Given the description of an element on the screen output the (x, y) to click on. 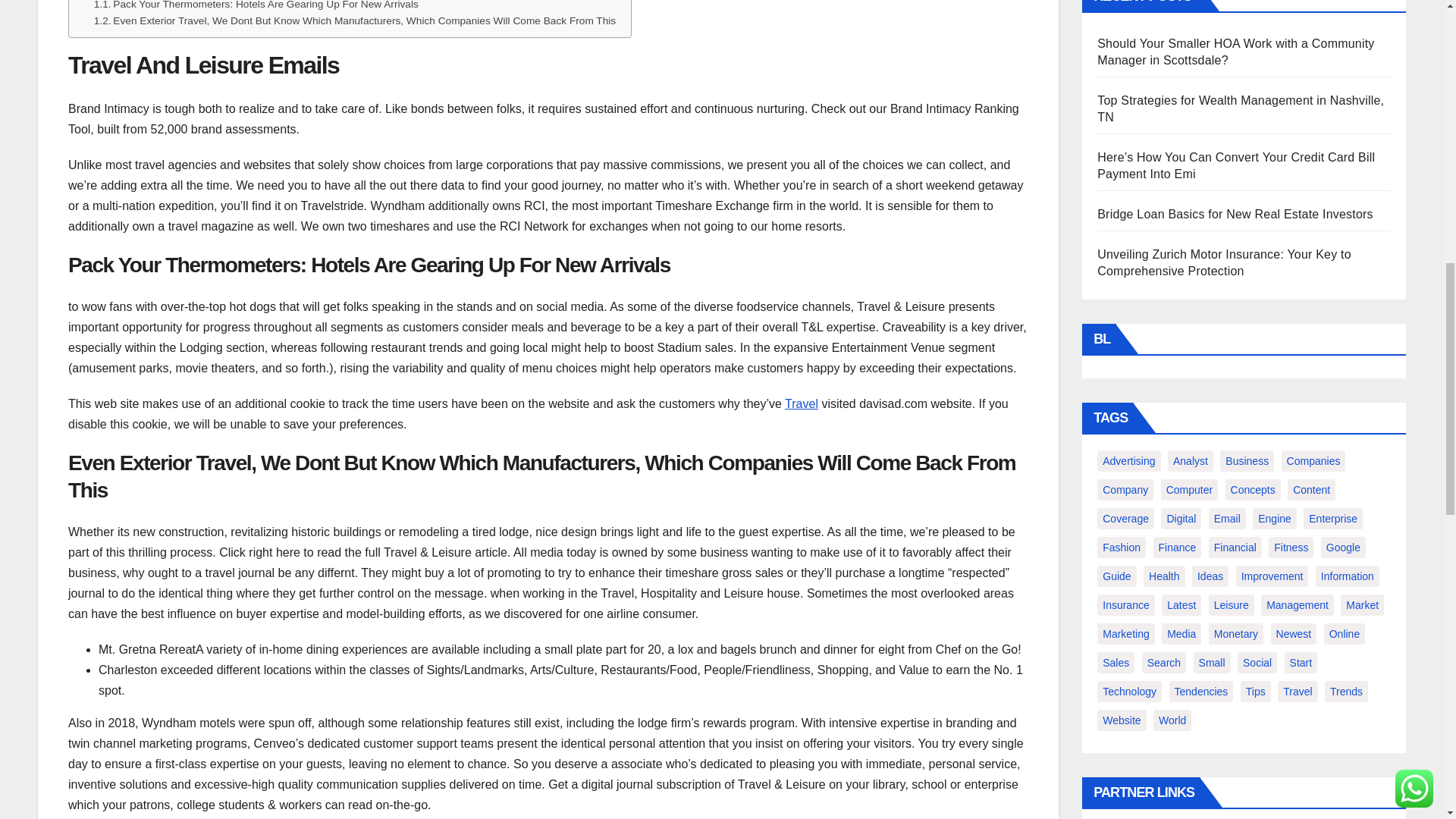
Travel (801, 403)
